Given the description of an element on the screen output the (x, y) to click on. 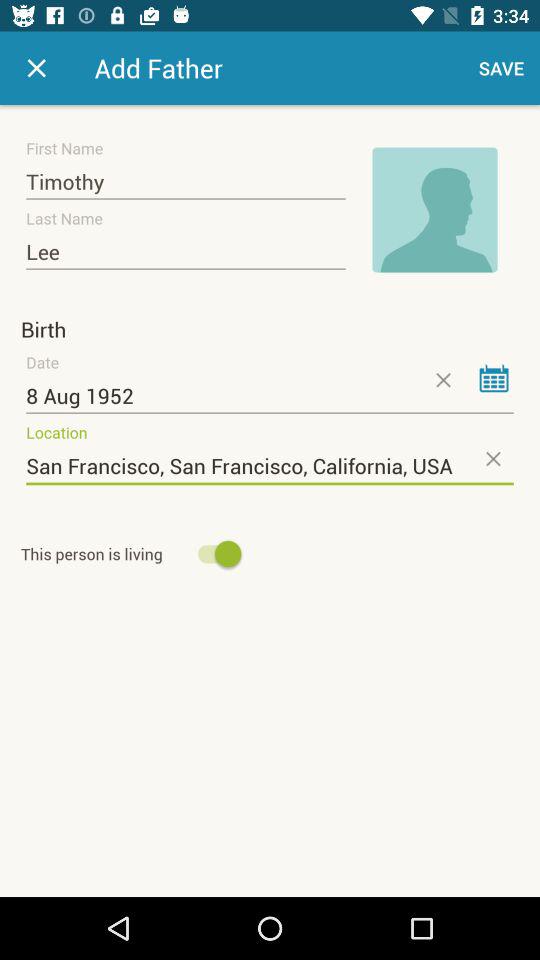
launch icon next to the timothy item (434, 210)
